Given the description of an element on the screen output the (x, y) to click on. 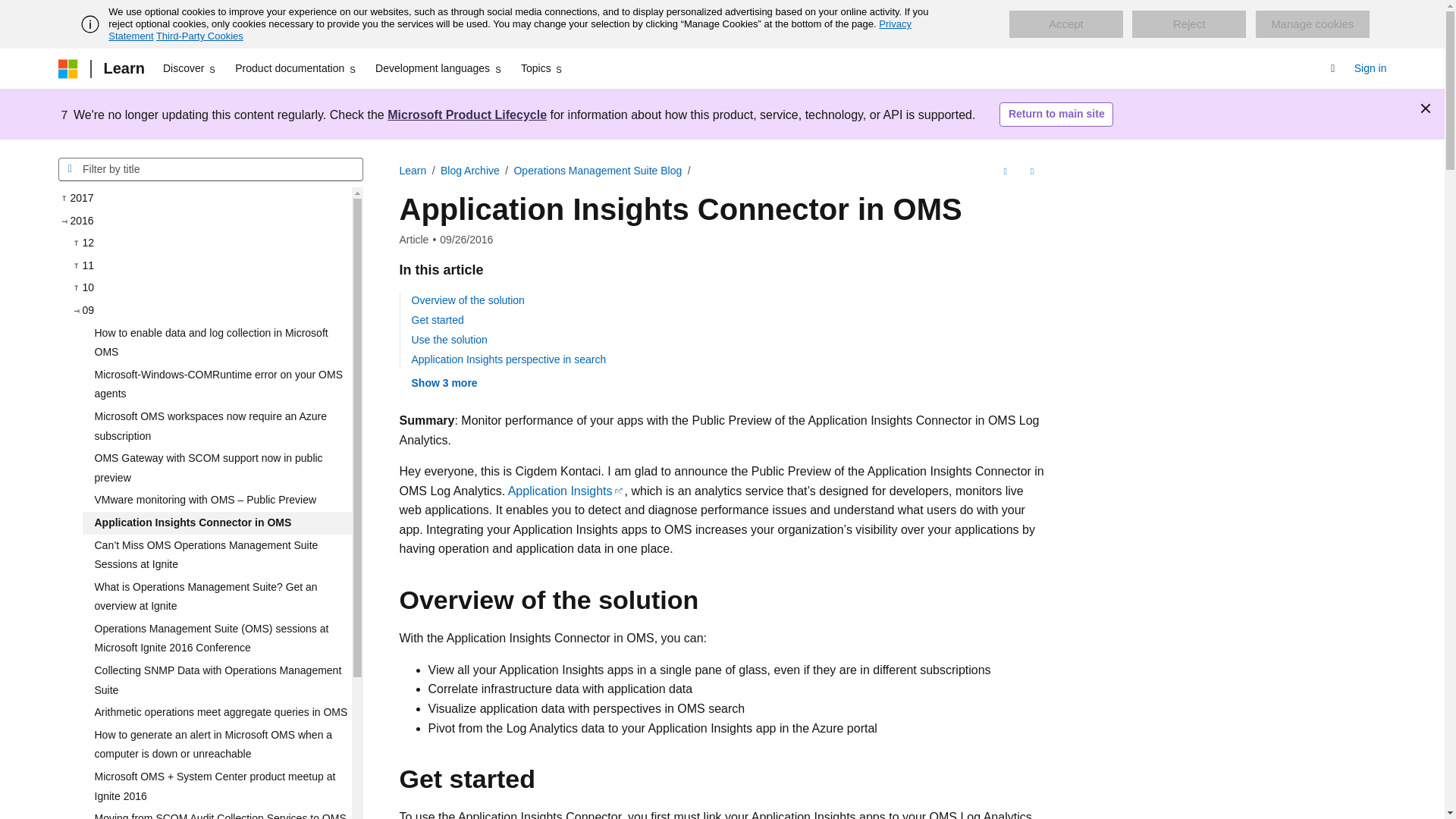
Return to main site (1055, 114)
Discover (189, 68)
Learn (123, 68)
OMS Gateway with SCOM support now in public preview (215, 467)
Skip to main content (11, 11)
Sign in (1370, 68)
Accept (1065, 23)
Product documentation (295, 68)
Development languages (438, 68)
